Given the description of an element on the screen output the (x, y) to click on. 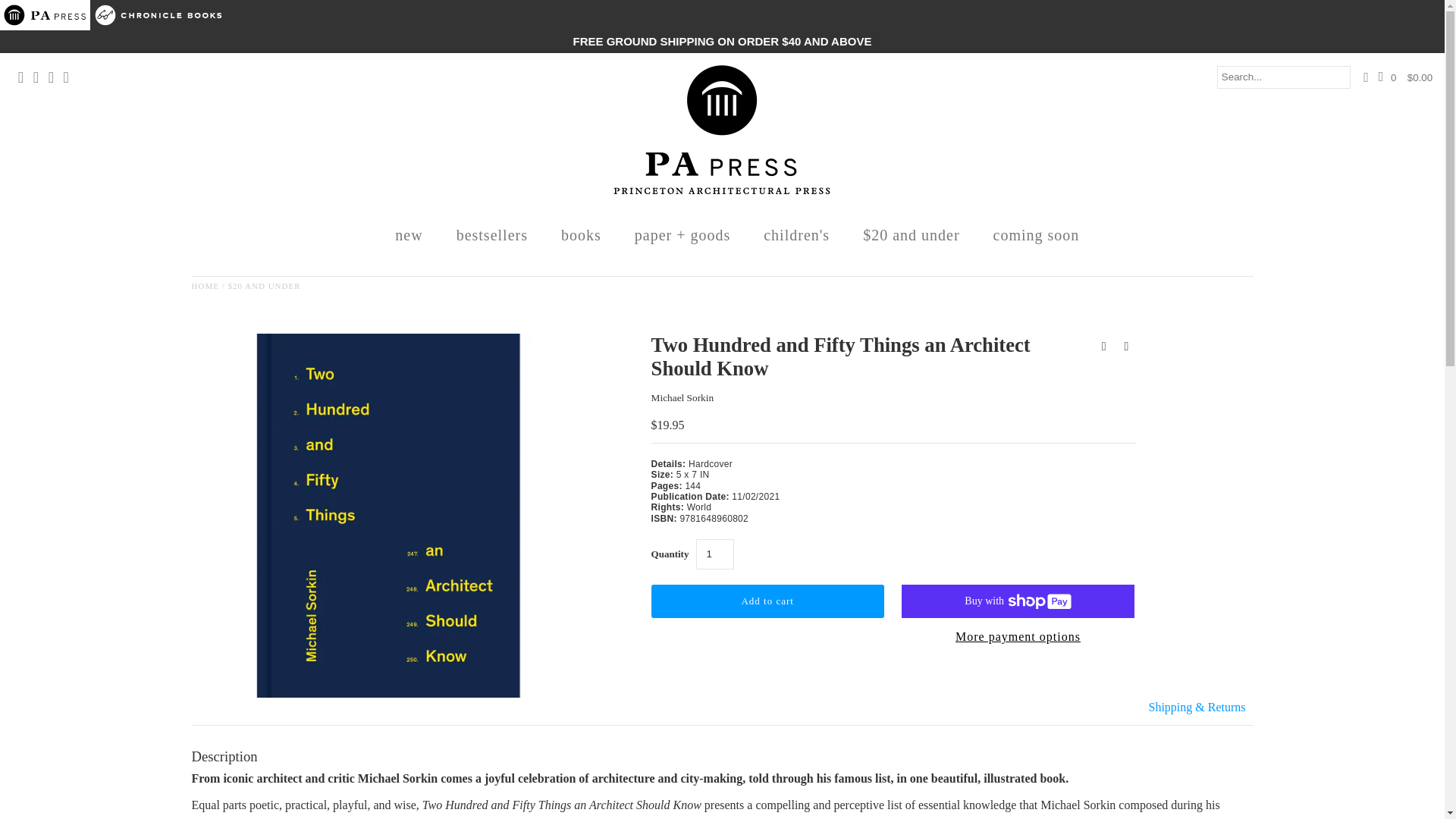
bestsellers (492, 234)
books (580, 234)
Add to cart (766, 601)
Home (204, 285)
1 (714, 553)
new (409, 234)
